Given the description of an element on the screen output the (x, y) to click on. 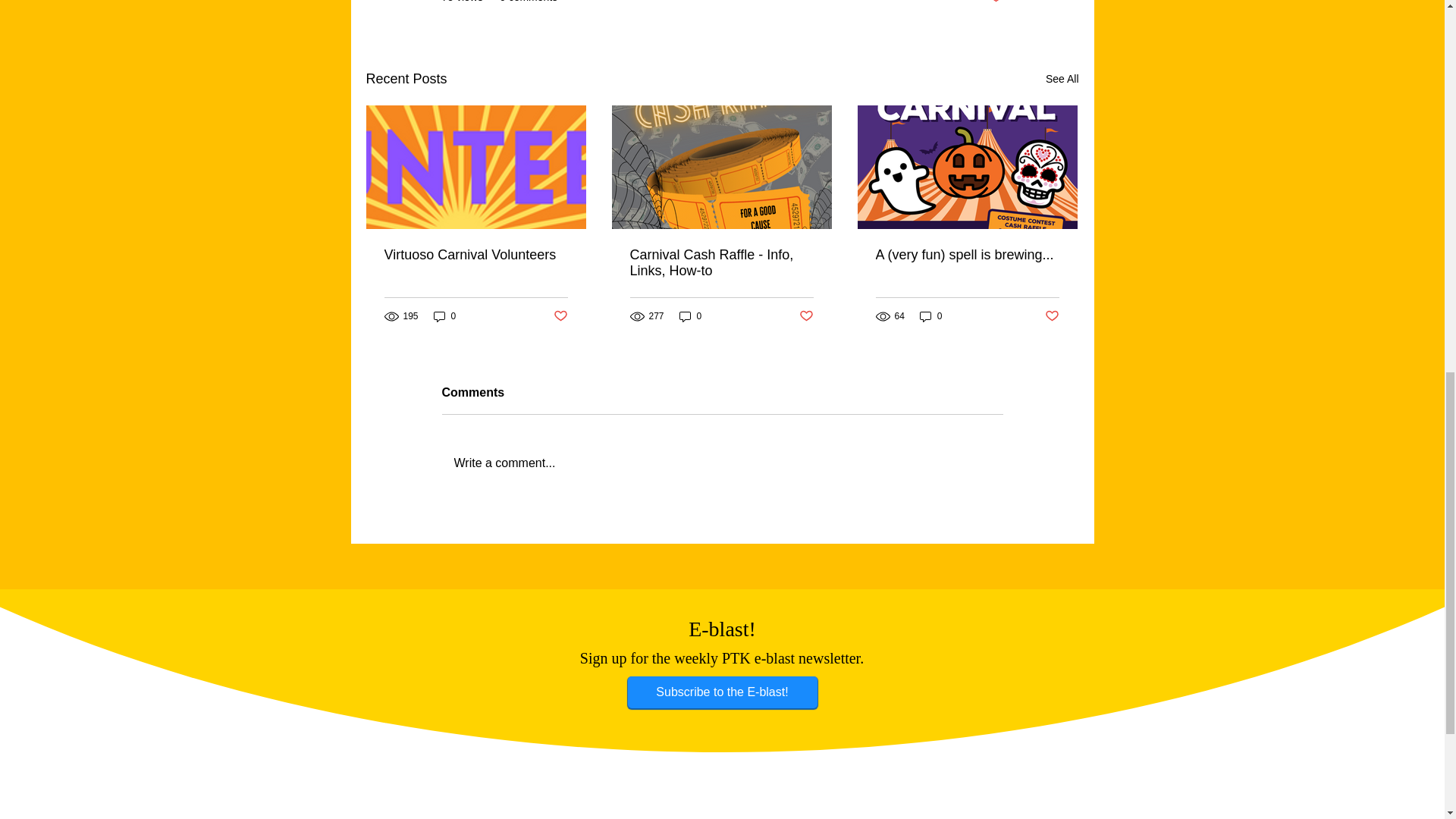
Post not marked as liked (995, 2)
0 (930, 316)
Post not marked as liked (806, 316)
0 (445, 316)
Carnival Cash Raffle - Info, Links, How-to (720, 263)
Virtuoso Carnival Volunteers (475, 254)
See All (1061, 78)
Post not marked as liked (560, 316)
Post not marked as liked (1052, 316)
0 (690, 316)
Write a comment... (722, 463)
